Given the description of an element on the screen output the (x, y) to click on. 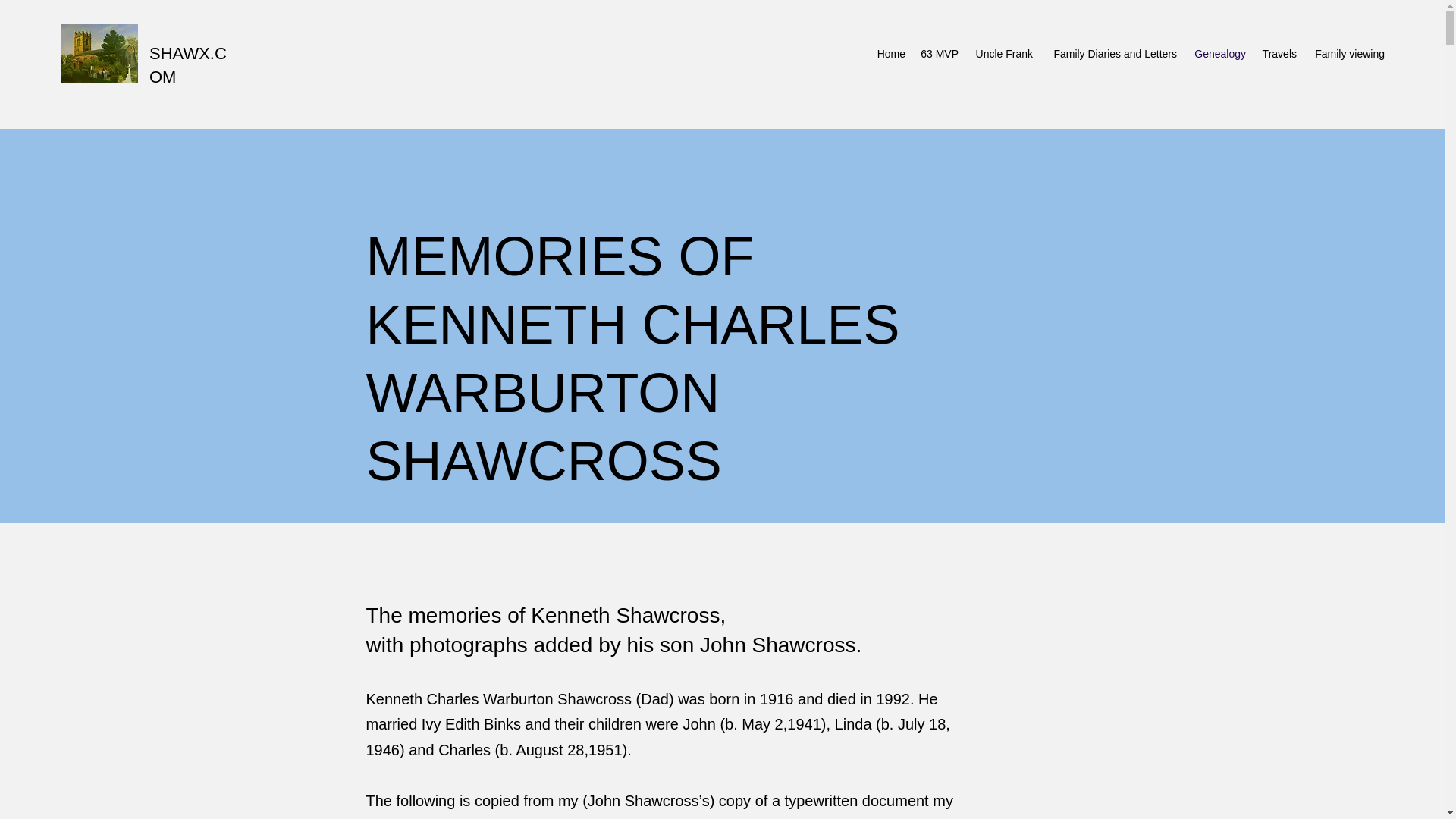
63 MVP (939, 53)
Home (889, 53)
Family viewing (1347, 53)
Genealogy (1219, 53)
SHAWX.COM (188, 65)
Travels (1278, 53)
Uncle Frank (1003, 53)
Family Diaries and Letters (1113, 53)
